Given the description of an element on the screen output the (x, y) to click on. 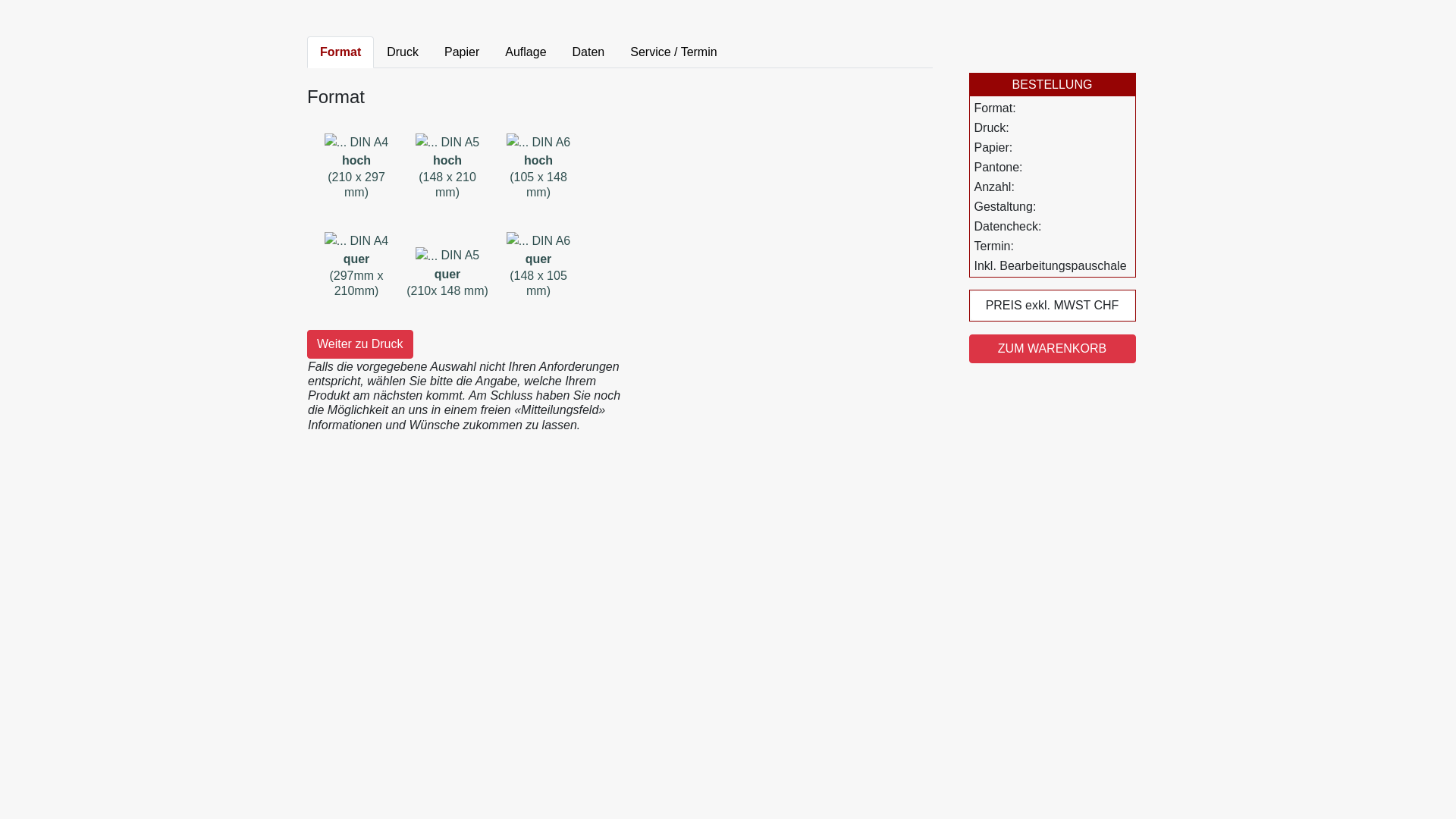
Weiter zu Druck Element type: text (360, 343)
Daten Element type: text (588, 52)
Format Element type: text (340, 52)
ZUM WARENKORB Element type: text (1052, 348)
Druck Element type: text (402, 52)
PREIS exkl. MWST CHF Element type: text (1052, 305)
DIN A5 hoch
(148 x 210 mm) Element type: text (447, 163)
DIN A4 quer
(297mm x 210mm) Element type: text (356, 262)
DIN A4 hoch
(210 x 297 mm) Element type: text (356, 163)
Papier Element type: text (461, 52)
DIN A5 quer
(210x 148 mm) Element type: text (447, 262)
DIN A6 hoch
(105 x 148 mm) Element type: text (538, 163)
DIN A6 quer
(148 x 105 mm) Element type: text (538, 262)
Auflage Element type: text (525, 52)
Service / Termin Element type: text (673, 52)
